Given the description of an element on the screen output the (x, y) to click on. 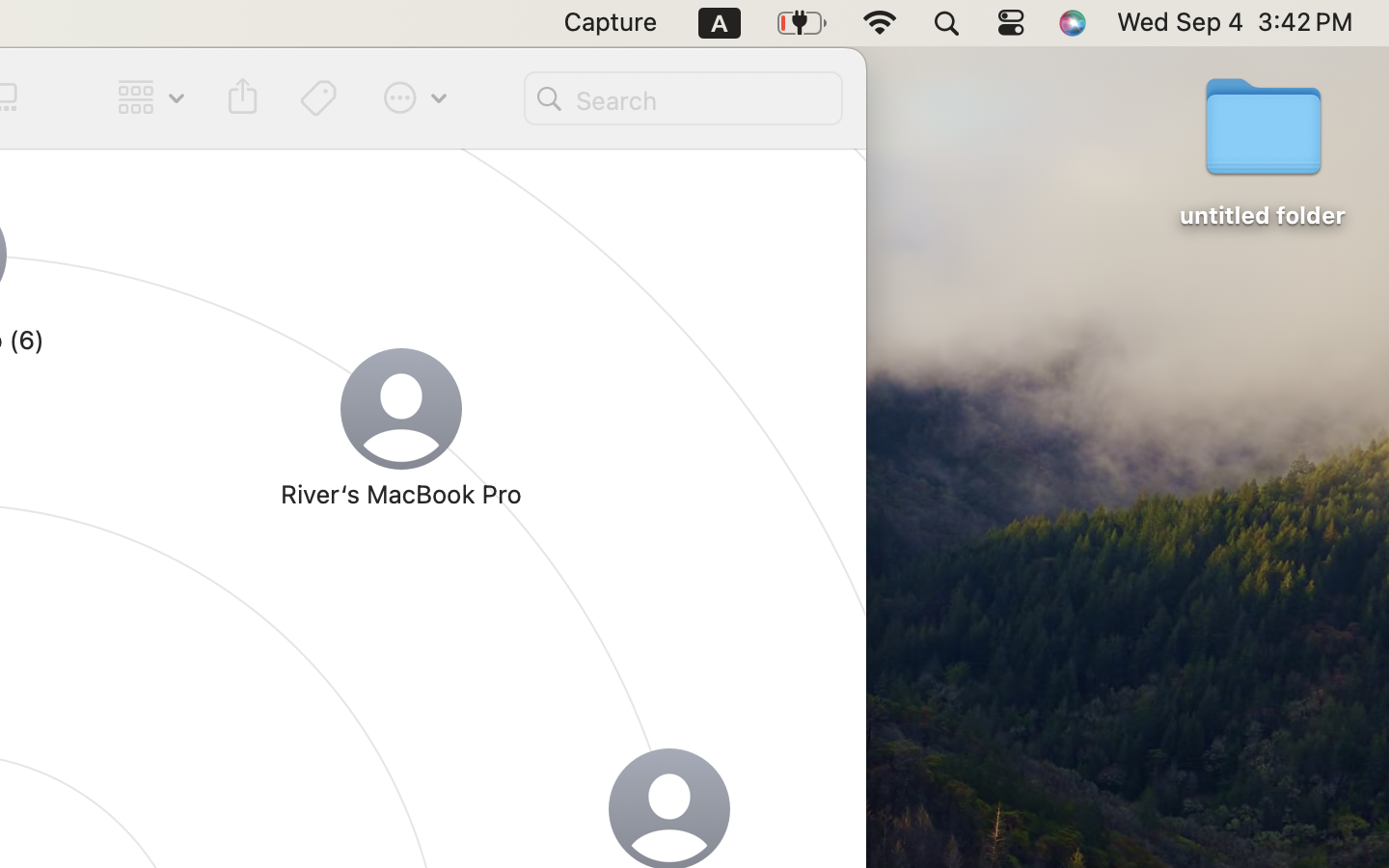
River‘s MacBook Pro Element type: AXStaticText (401, 493)
